Given the description of an element on the screen output the (x, y) to click on. 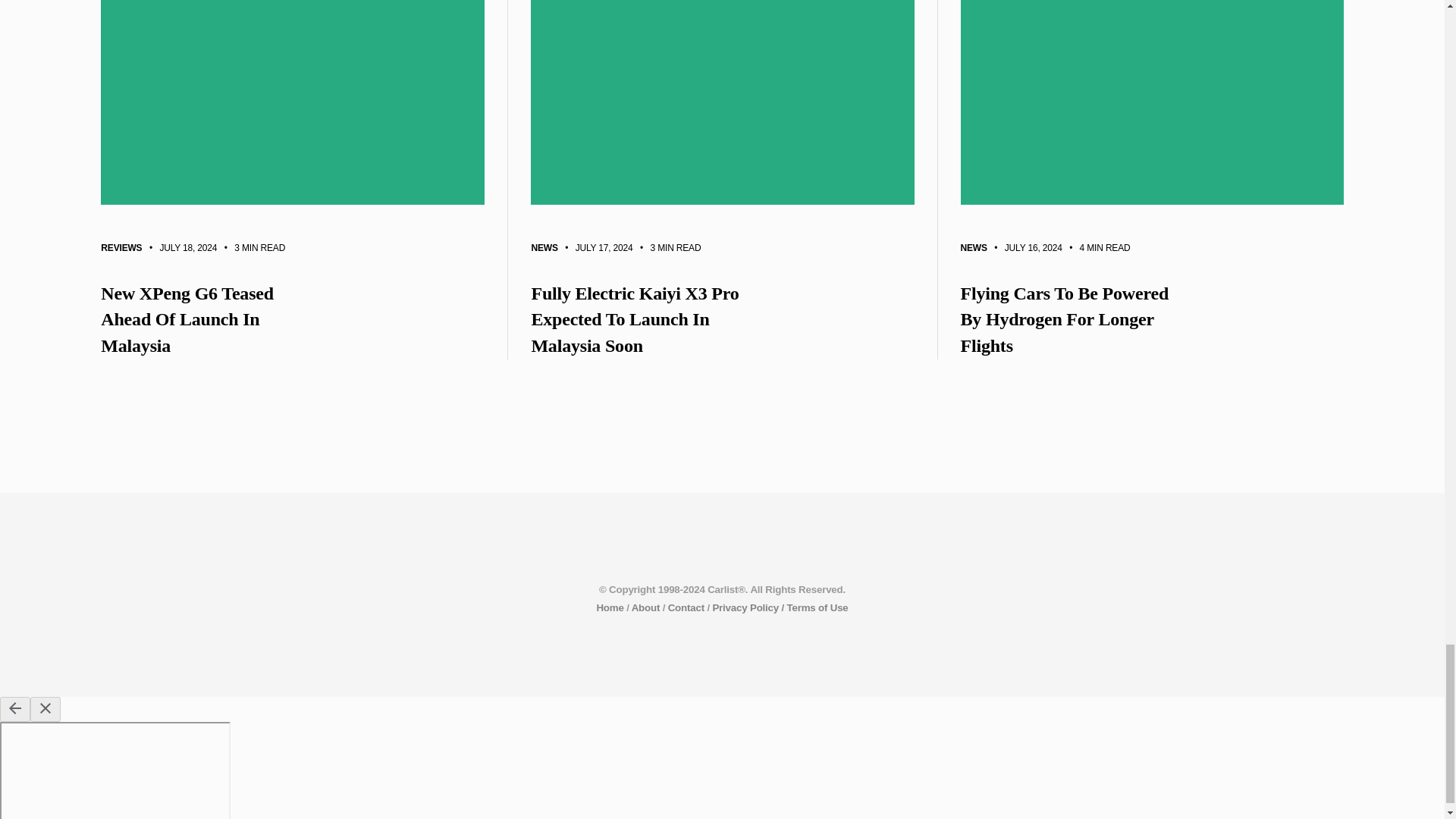
Flying Cars To Be Powered By Hydrogen For Longer Flights (1150, 319)
Home (609, 607)
REVIEWS (120, 249)
CarList's Privacy Policy' (748, 607)
New XPeng G6 Teased Ahead Of Launch In Malaysia (292, 320)
CarList (609, 607)
NEWS (973, 247)
Contact (686, 607)
CarList's Terms of Use' (817, 607)
Contact CarList (686, 607)
About (646, 607)
NEWS (544, 248)
About CarList (646, 607)
Terms of Use (817, 607)
